Given the description of an element on the screen output the (x, y) to click on. 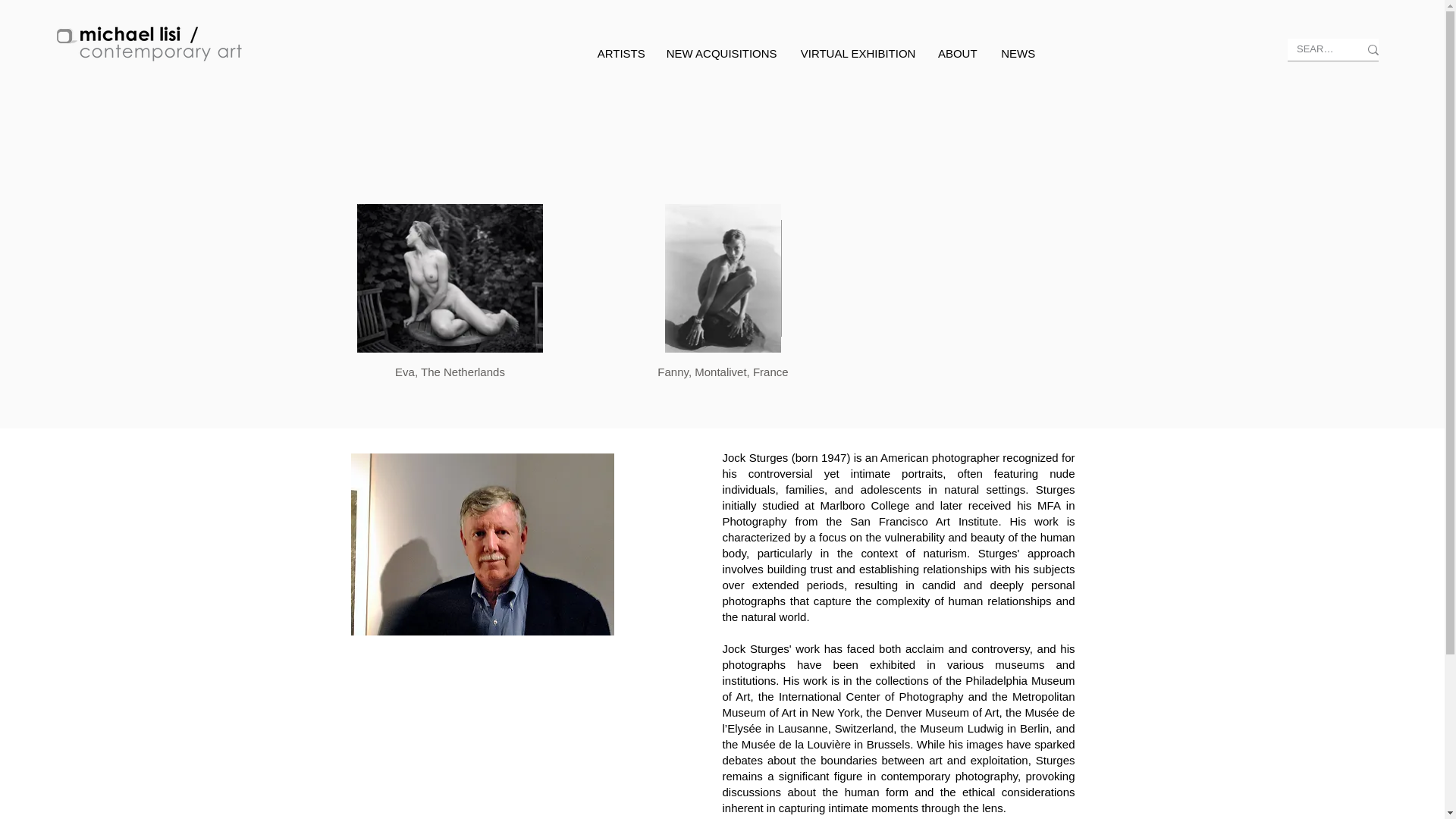
VIRTUAL EXHIBITION (857, 53)
ABOUT (958, 53)
NEW ACQUISITIONS (721, 53)
ARTISTS (619, 53)
NEWS (1018, 53)
